Given the description of an element on the screen output the (x, y) to click on. 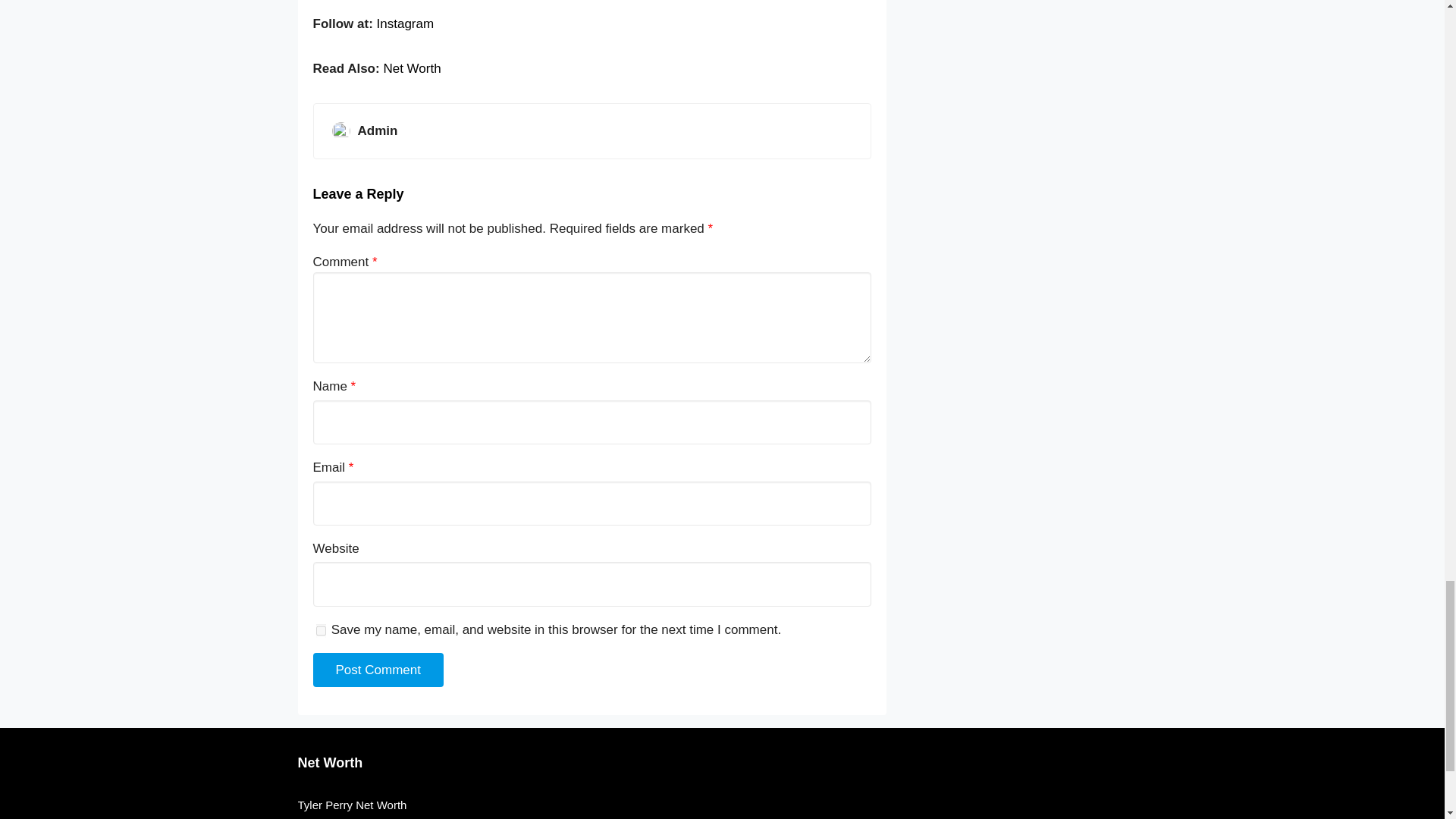
Net Worth (329, 762)
Post Comment (377, 669)
Instagram (405, 23)
Tyler Perry Net Worth (722, 805)
Post Comment (377, 669)
Net Worth (411, 68)
